Given the description of an element on the screen output the (x, y) to click on. 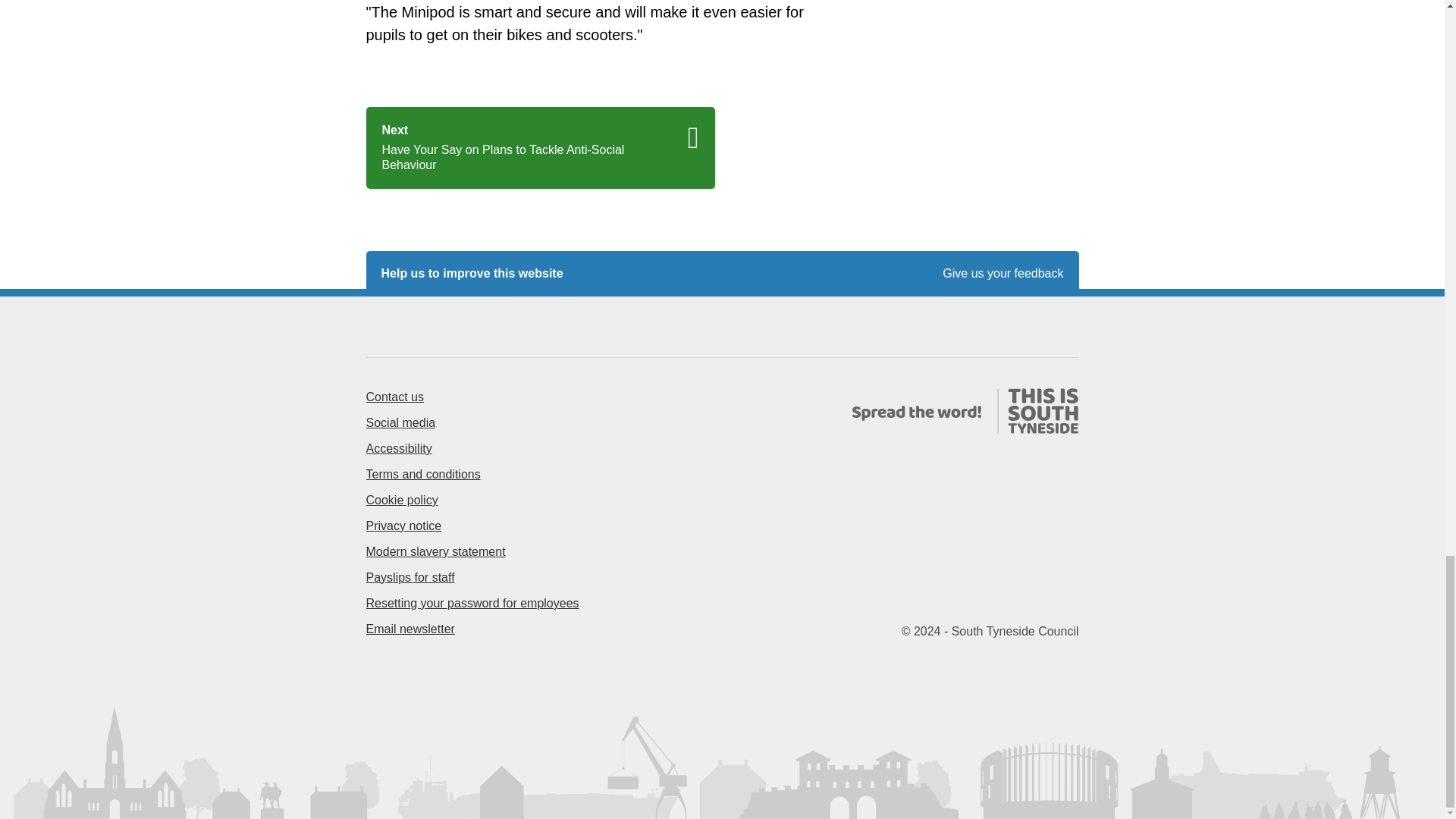
Cookie policy (401, 499)
Email newsletter (409, 628)
Payslips for staff (409, 576)
Privacy notice (403, 525)
Contact us (394, 396)
Give us your feedback (1002, 273)
Social media (400, 422)
Modern slavery statement (435, 551)
Terms and conditions (422, 473)
Accessibility (397, 448)
Resetting your password for employees (471, 603)
